Given the description of an element on the screen output the (x, y) to click on. 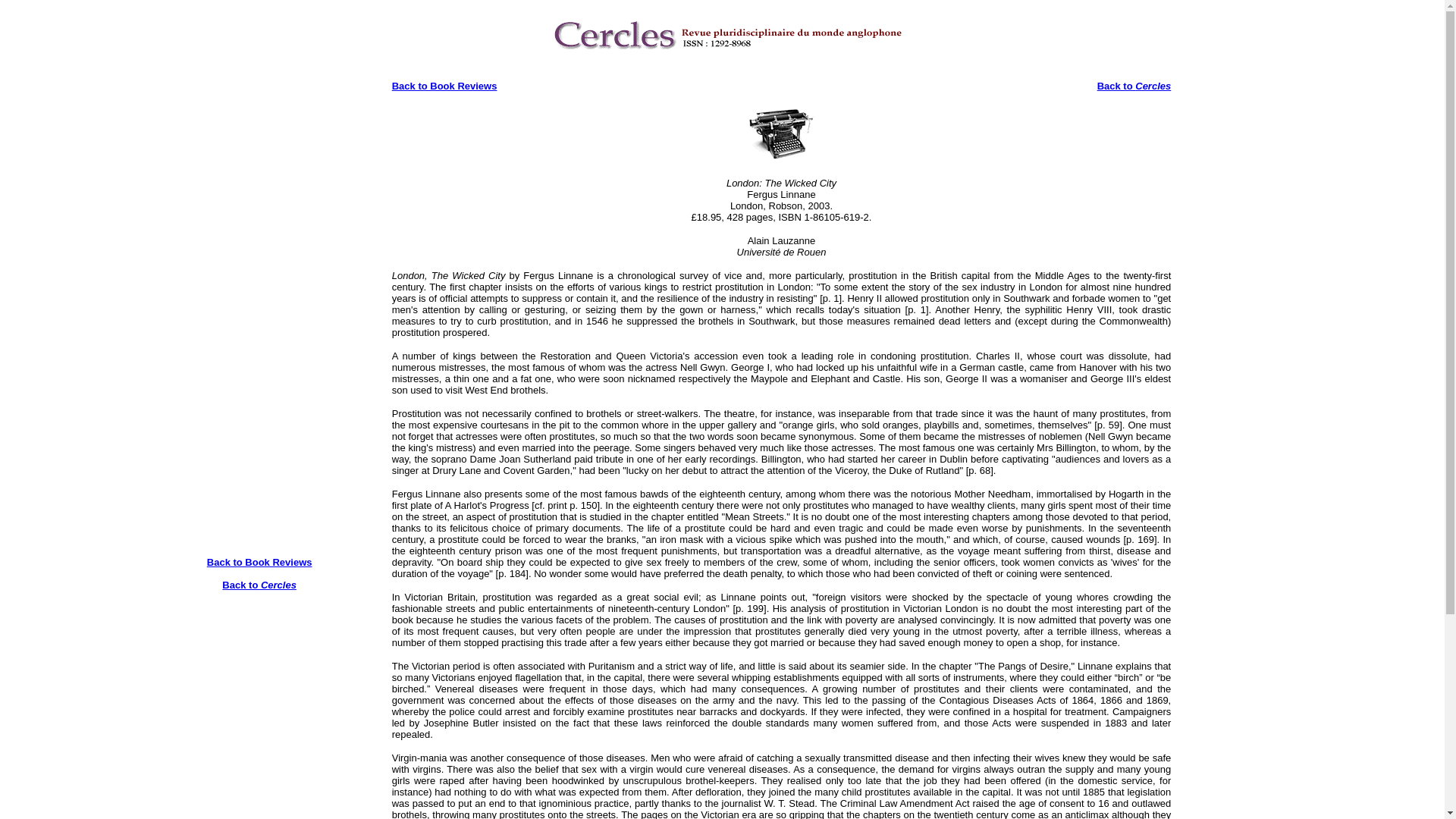
Back to Cercles (259, 590)
Back to Cercles (1134, 85)
Back to Book Reviews (444, 85)
Back to Book Reviews (259, 562)
